Given the description of an element on the screen output the (x, y) to click on. 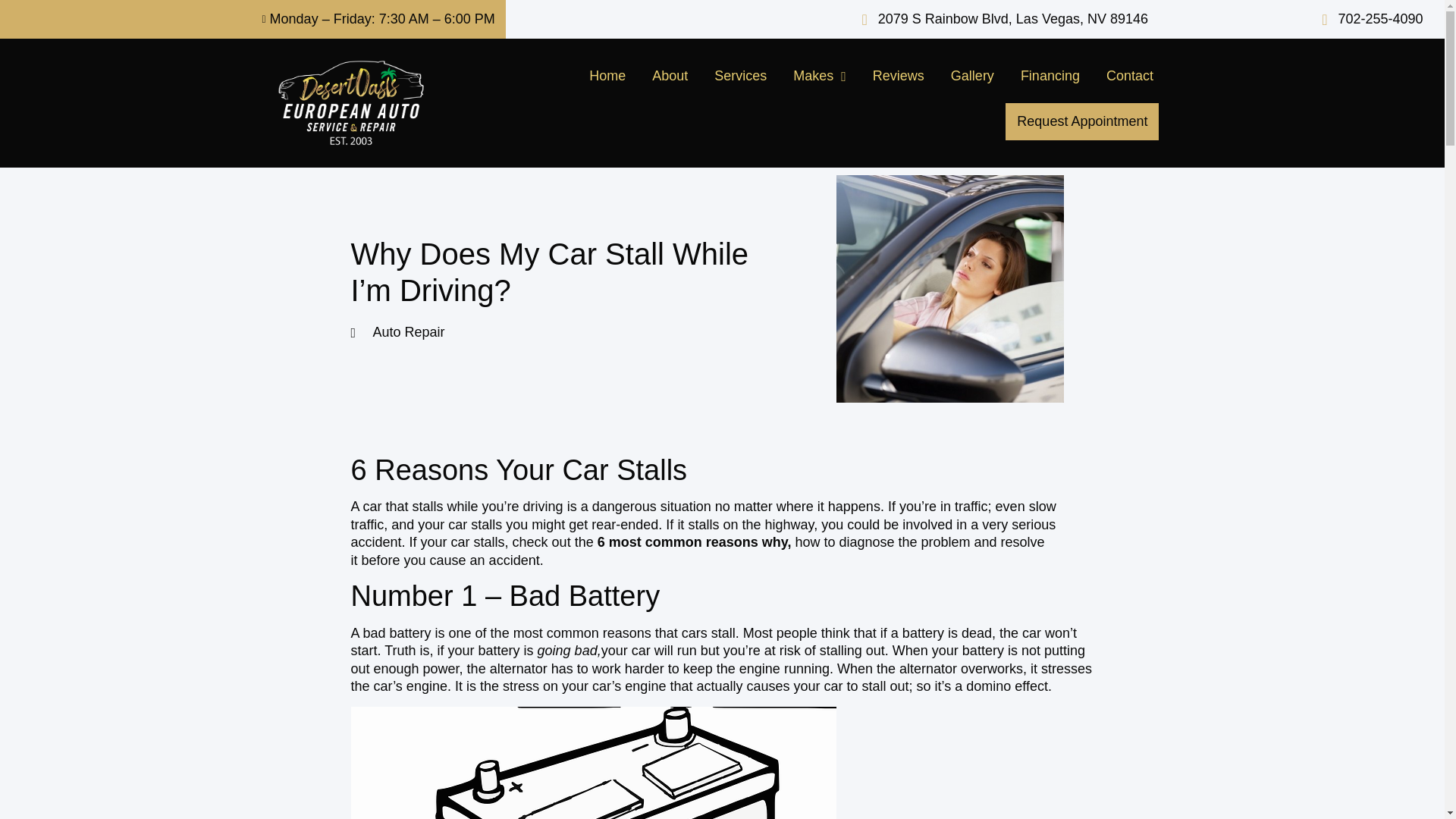
Home (607, 76)
Contact (1129, 76)
702-255-4090 (1368, 18)
Reviews (898, 76)
Services (740, 76)
Makes (819, 76)
Financing (1049, 76)
Request Appointment (1082, 121)
2079 S Rainbow Blvd, Las Vegas, NV 89146 (1002, 18)
About (669, 76)
